Given the description of an element on the screen output the (x, y) to click on. 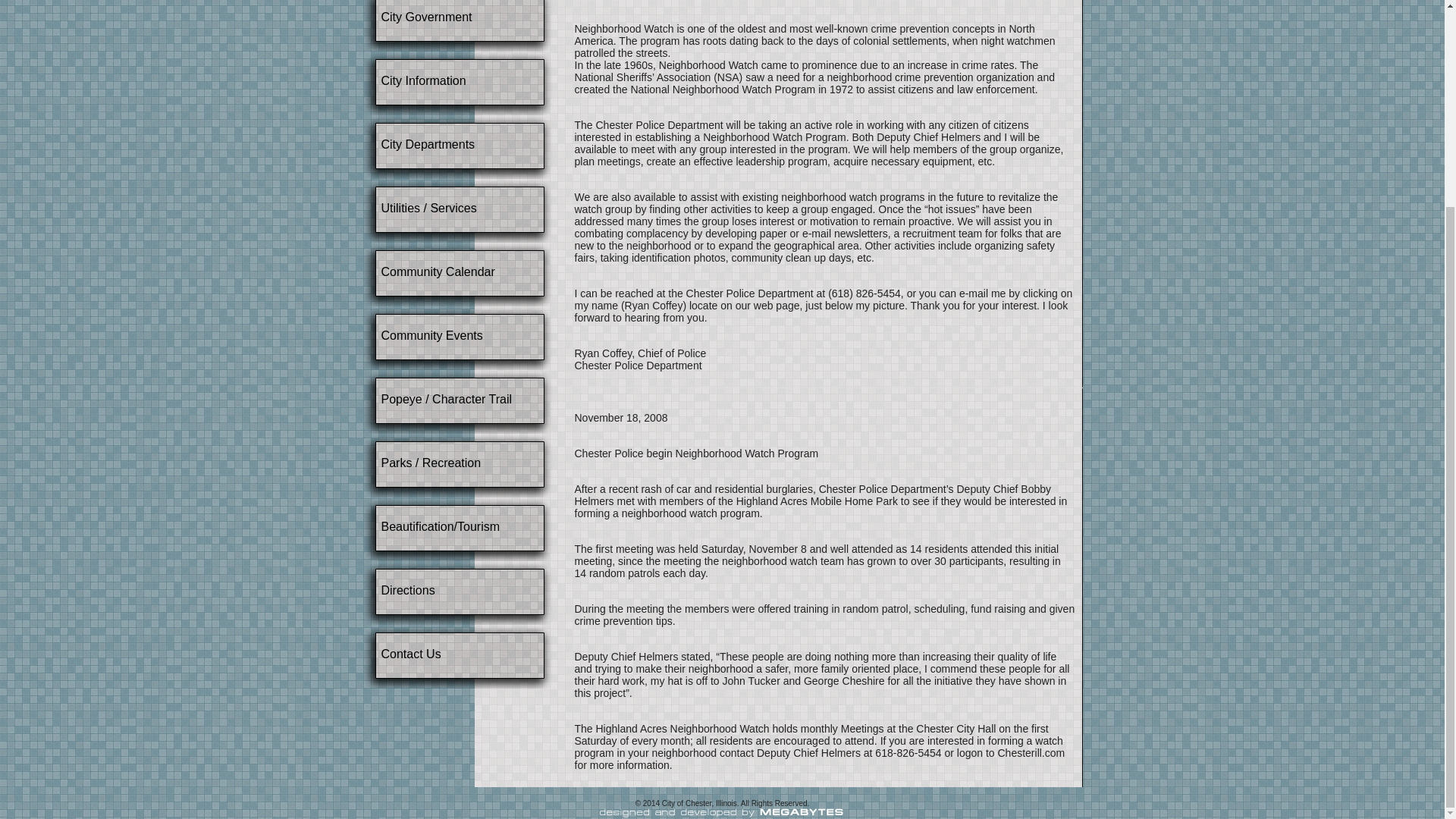
City Government (425, 16)
City Departments (427, 144)
Contact Us (410, 653)
Community Calendar (437, 271)
City Information (422, 80)
Community Events (430, 335)
Directions (406, 590)
